Given the description of an element on the screen output the (x, y) to click on. 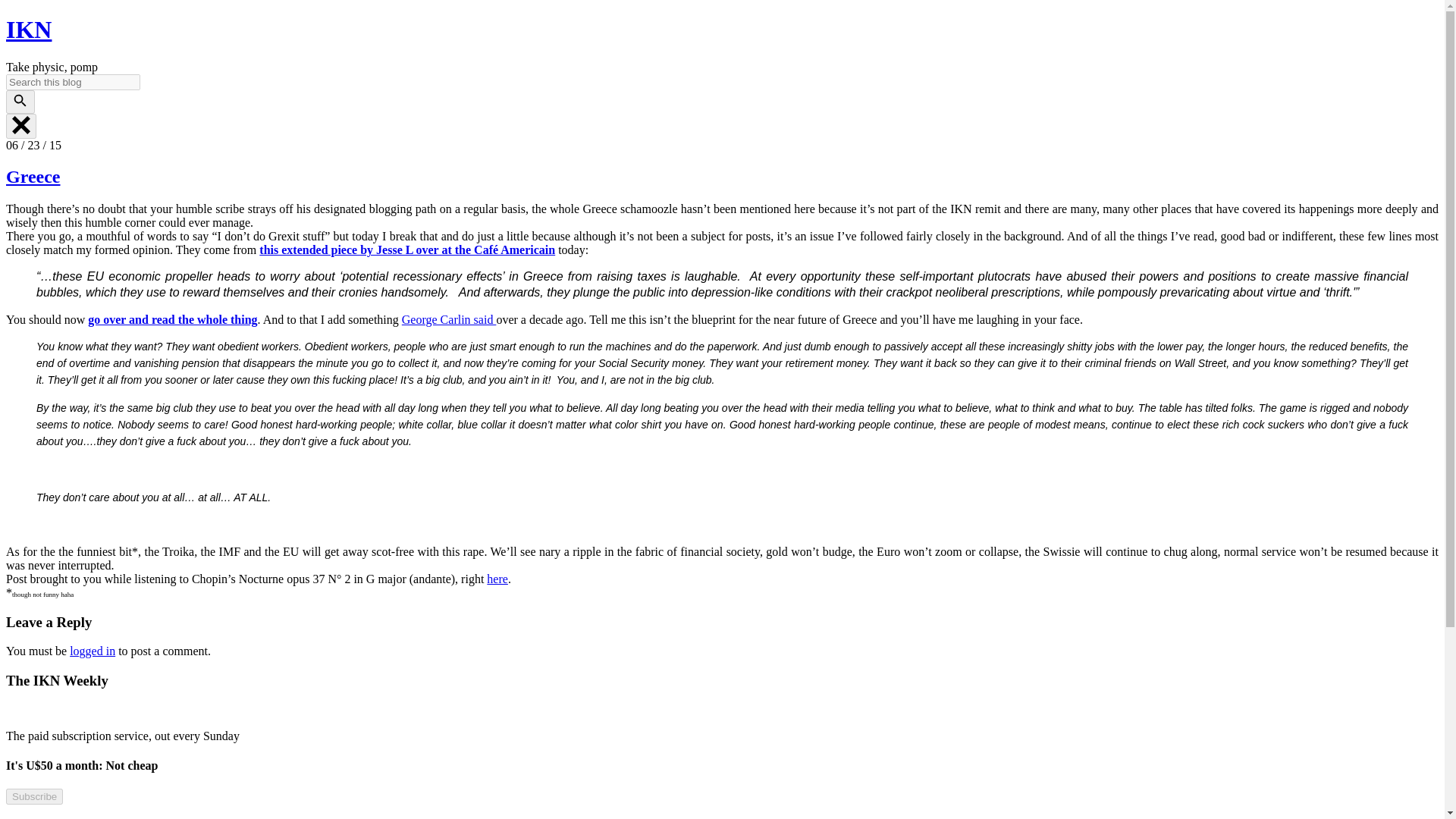
Greece (33, 176)
Search (19, 101)
George Carlin said (448, 318)
logged in (92, 650)
Subscribe (33, 796)
here (497, 578)
Close (20, 125)
go over and read the whole thing (172, 318)
IKN (27, 29)
